Given the description of an element on the screen output the (x, y) to click on. 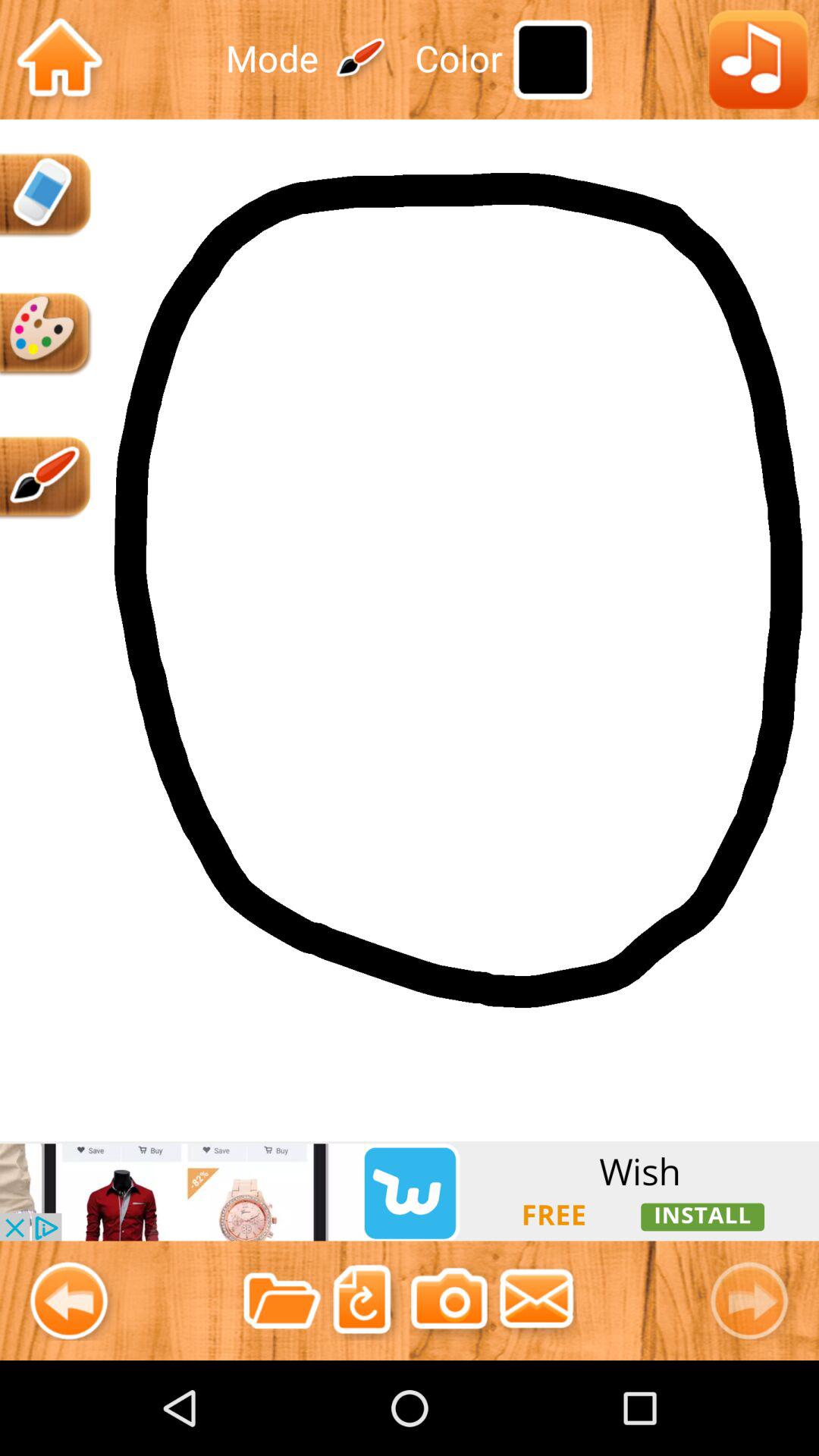
brush tool (47, 478)
